Given the description of an element on the screen output the (x, y) to click on. 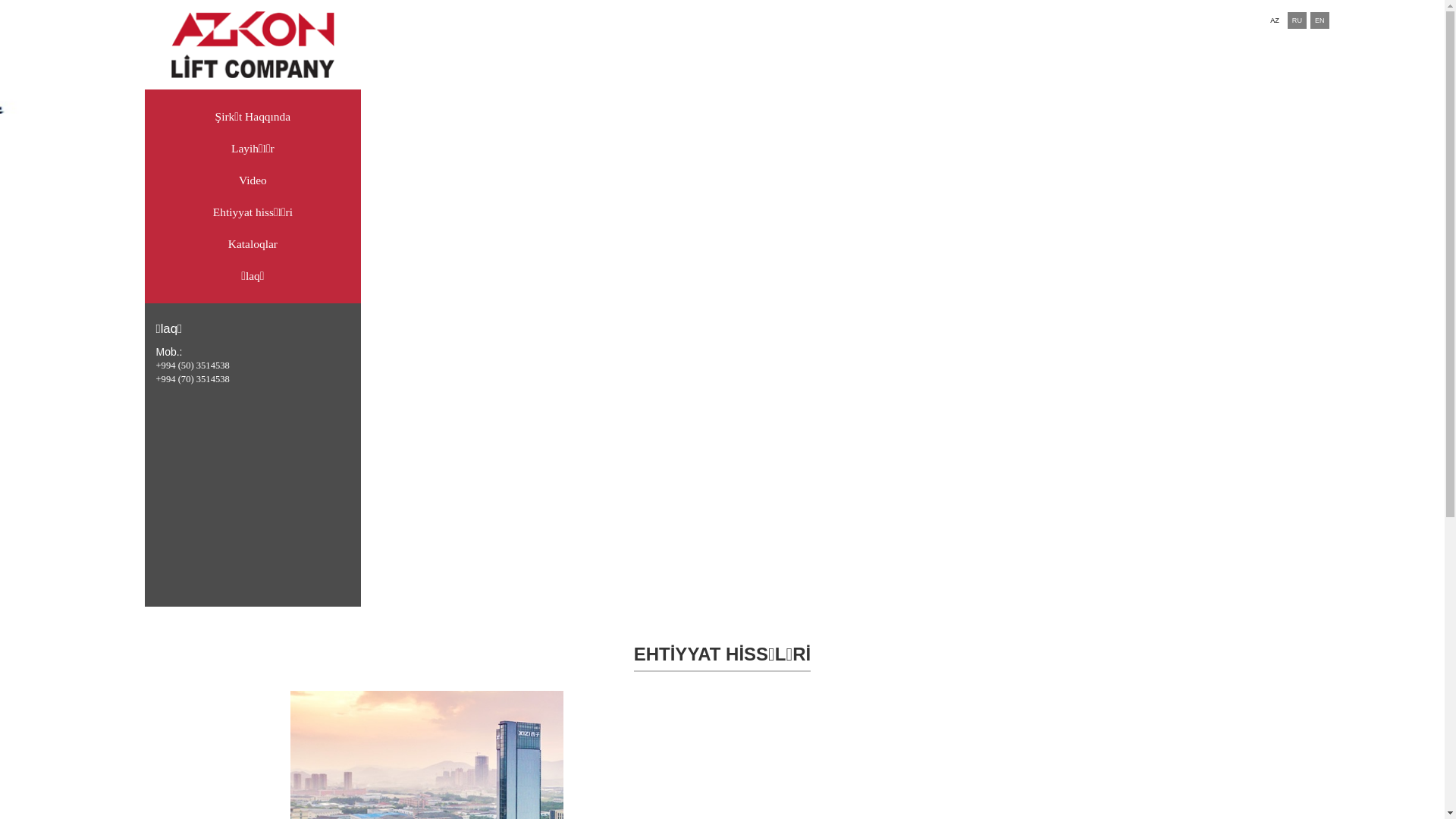
EN Element type: text (1319, 20)
RU Element type: text (1296, 20)
Kataloqlar Element type: text (252, 245)
AZ Element type: text (1274, 20)
Video Element type: text (252, 181)
